Given the description of an element on the screen output the (x, y) to click on. 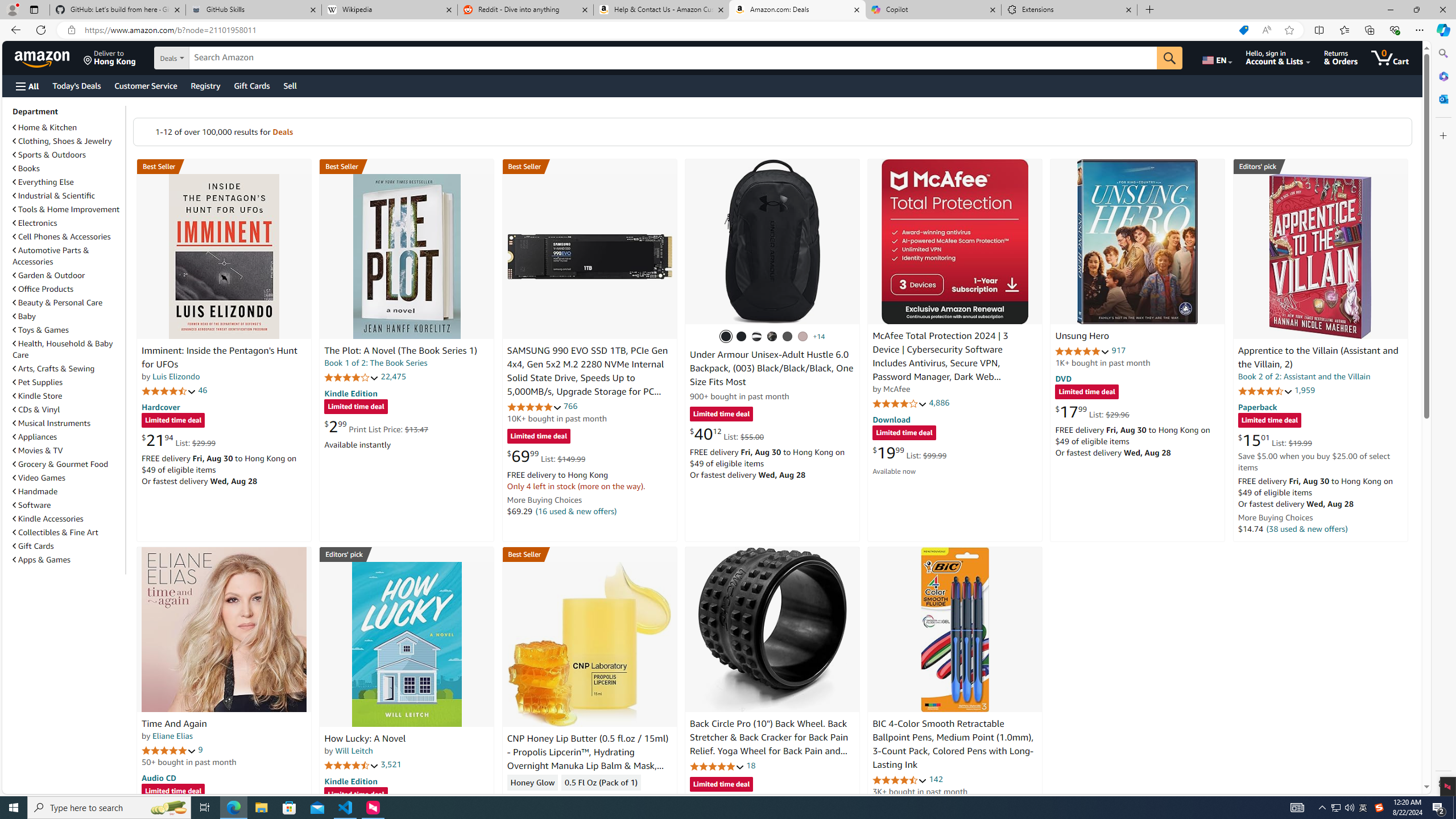
Collectibles & Fine Art (67, 532)
Go (1169, 57)
Handmade (35, 491)
Appliances (34, 436)
Download (891, 419)
Movies & TV (37, 450)
Apps & Games (41, 559)
Imminent: Inside the Pentagon's Hunt for UFOs (223, 256)
1,959 (1305, 390)
Search in (210, 58)
Unsung Hero (1082, 336)
